Given the description of an element on the screen output the (x, y) to click on. 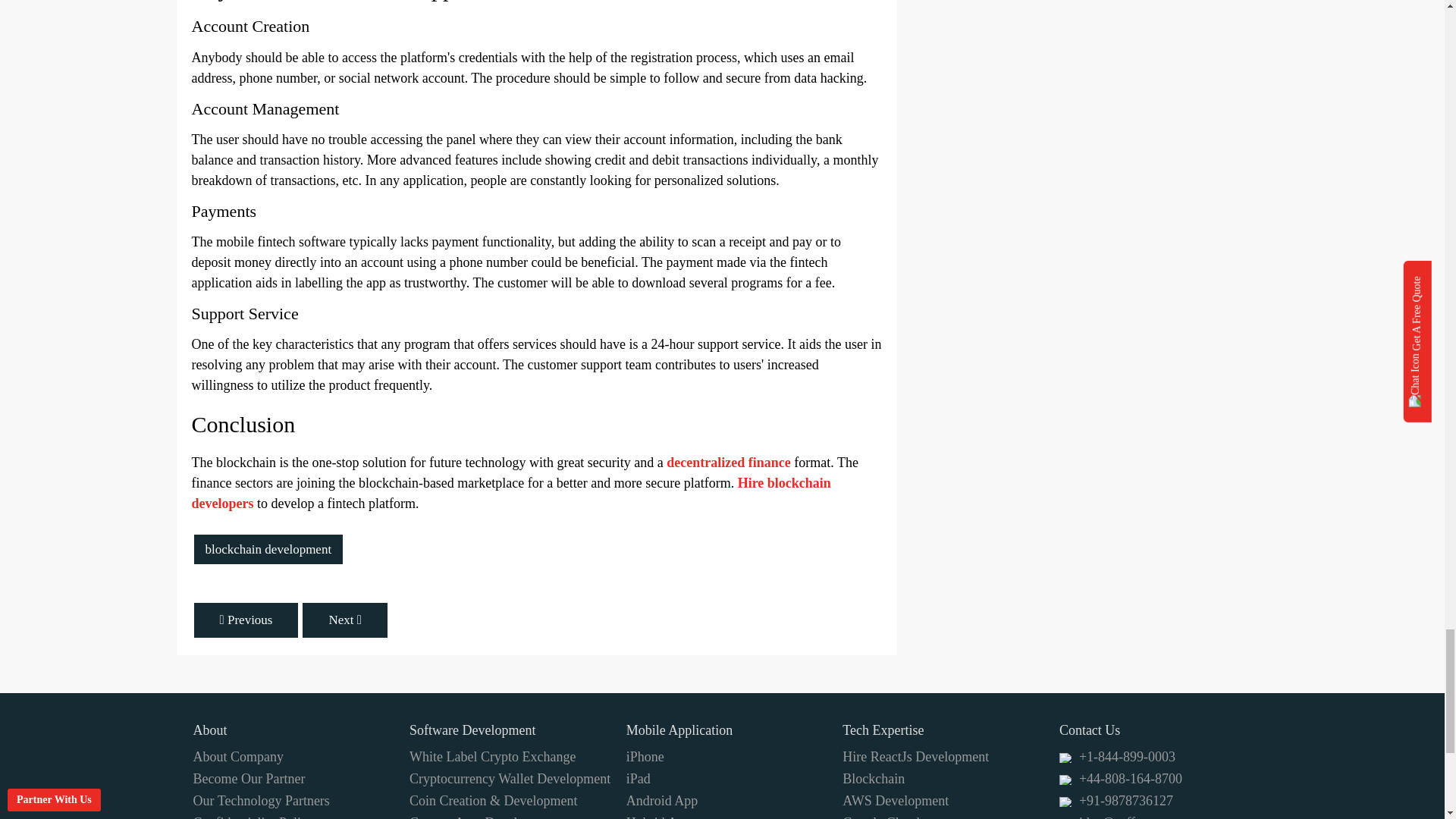
Transforming Healthcare With Blockchain App Development (245, 620)
